Given the description of an element on the screen output the (x, y) to click on. 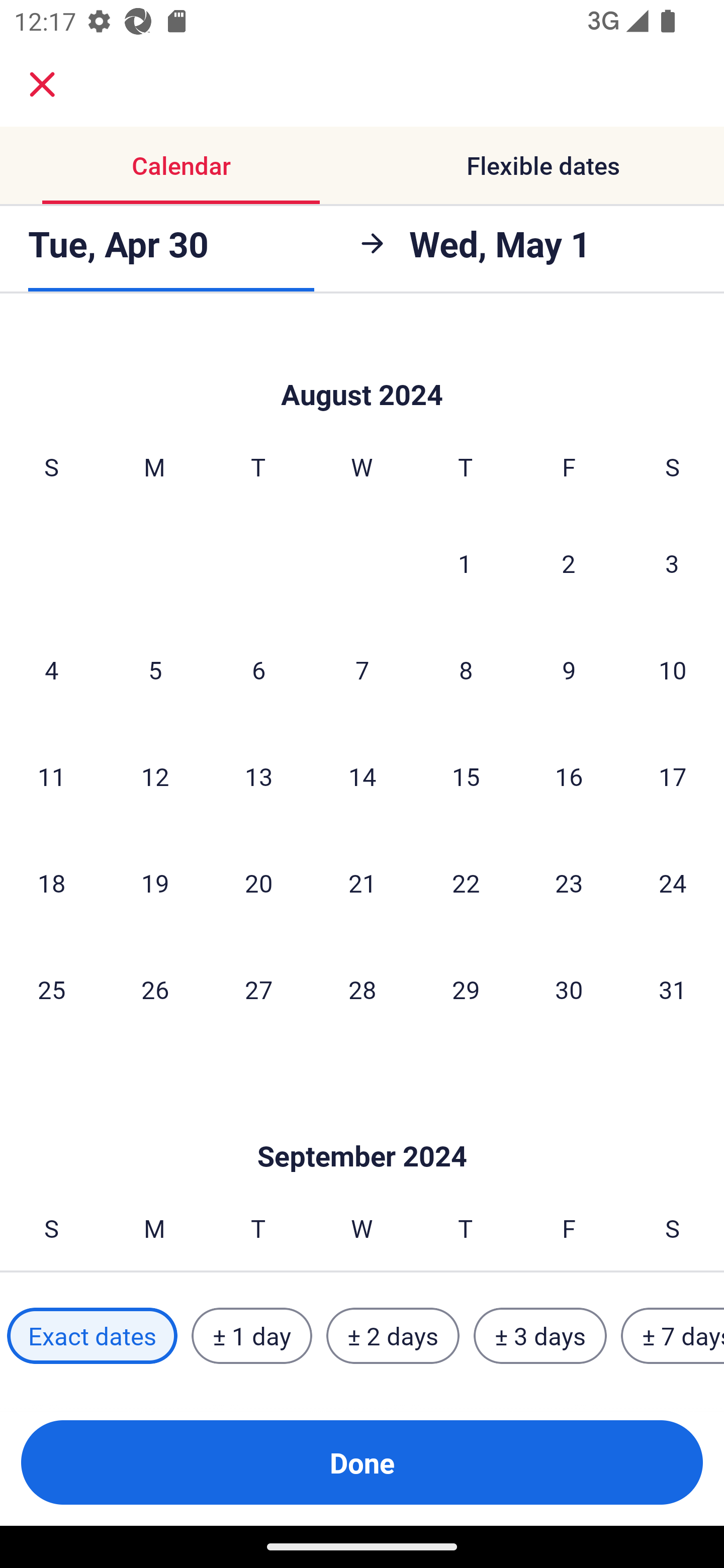
close. (42, 84)
Flexible dates (542, 164)
Skip to Done (362, 365)
1 Thursday, August 1, 2024 (464, 562)
2 Friday, August 2, 2024 (568, 562)
3 Saturday, August 3, 2024 (672, 562)
4 Sunday, August 4, 2024 (51, 669)
5 Monday, August 5, 2024 (155, 669)
6 Tuesday, August 6, 2024 (258, 669)
7 Wednesday, August 7, 2024 (362, 669)
8 Thursday, August 8, 2024 (465, 669)
9 Friday, August 9, 2024 (569, 669)
10 Saturday, August 10, 2024 (672, 669)
11 Sunday, August 11, 2024 (51, 775)
12 Monday, August 12, 2024 (155, 775)
13 Tuesday, August 13, 2024 (258, 775)
14 Wednesday, August 14, 2024 (362, 775)
15 Thursday, August 15, 2024 (465, 775)
16 Friday, August 16, 2024 (569, 775)
17 Saturday, August 17, 2024 (672, 775)
18 Sunday, August 18, 2024 (51, 882)
19 Monday, August 19, 2024 (155, 882)
20 Tuesday, August 20, 2024 (258, 882)
21 Wednesday, August 21, 2024 (362, 882)
22 Thursday, August 22, 2024 (465, 882)
23 Friday, August 23, 2024 (569, 882)
24 Saturday, August 24, 2024 (672, 882)
25 Sunday, August 25, 2024 (51, 989)
26 Monday, August 26, 2024 (155, 989)
27 Tuesday, August 27, 2024 (258, 989)
28 Wednesday, August 28, 2024 (362, 989)
29 Thursday, August 29, 2024 (465, 989)
30 Friday, August 30, 2024 (569, 989)
31 Saturday, August 31, 2024 (672, 989)
Skip to Done (362, 1125)
Exact dates (92, 1335)
± 1 day (251, 1335)
± 2 days (392, 1335)
± 3 days (539, 1335)
± 7 days (672, 1335)
Done (361, 1462)
